Given the description of an element on the screen output the (x, y) to click on. 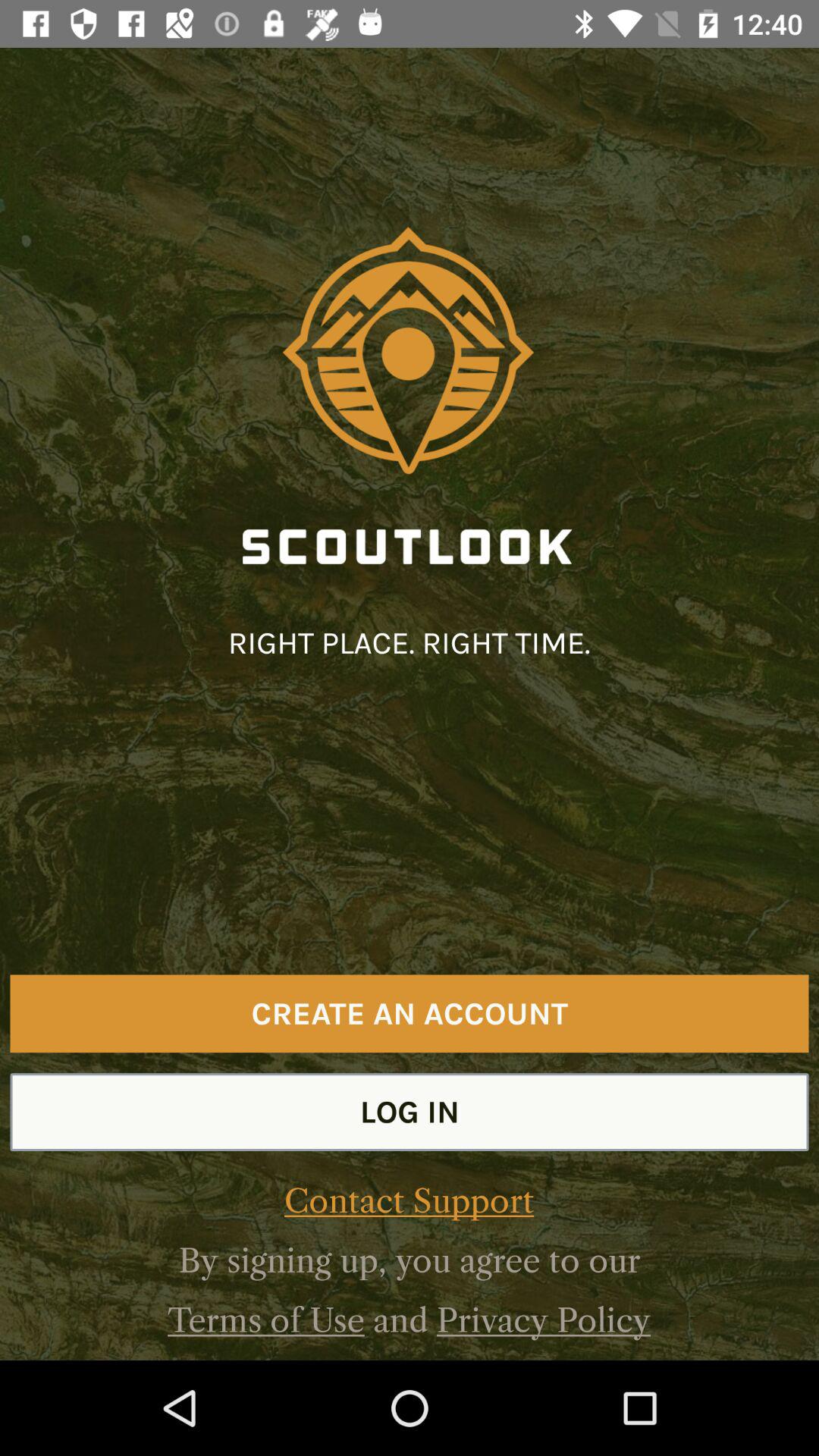
tap create an account (409, 1013)
